Given the description of an element on the screen output the (x, y) to click on. 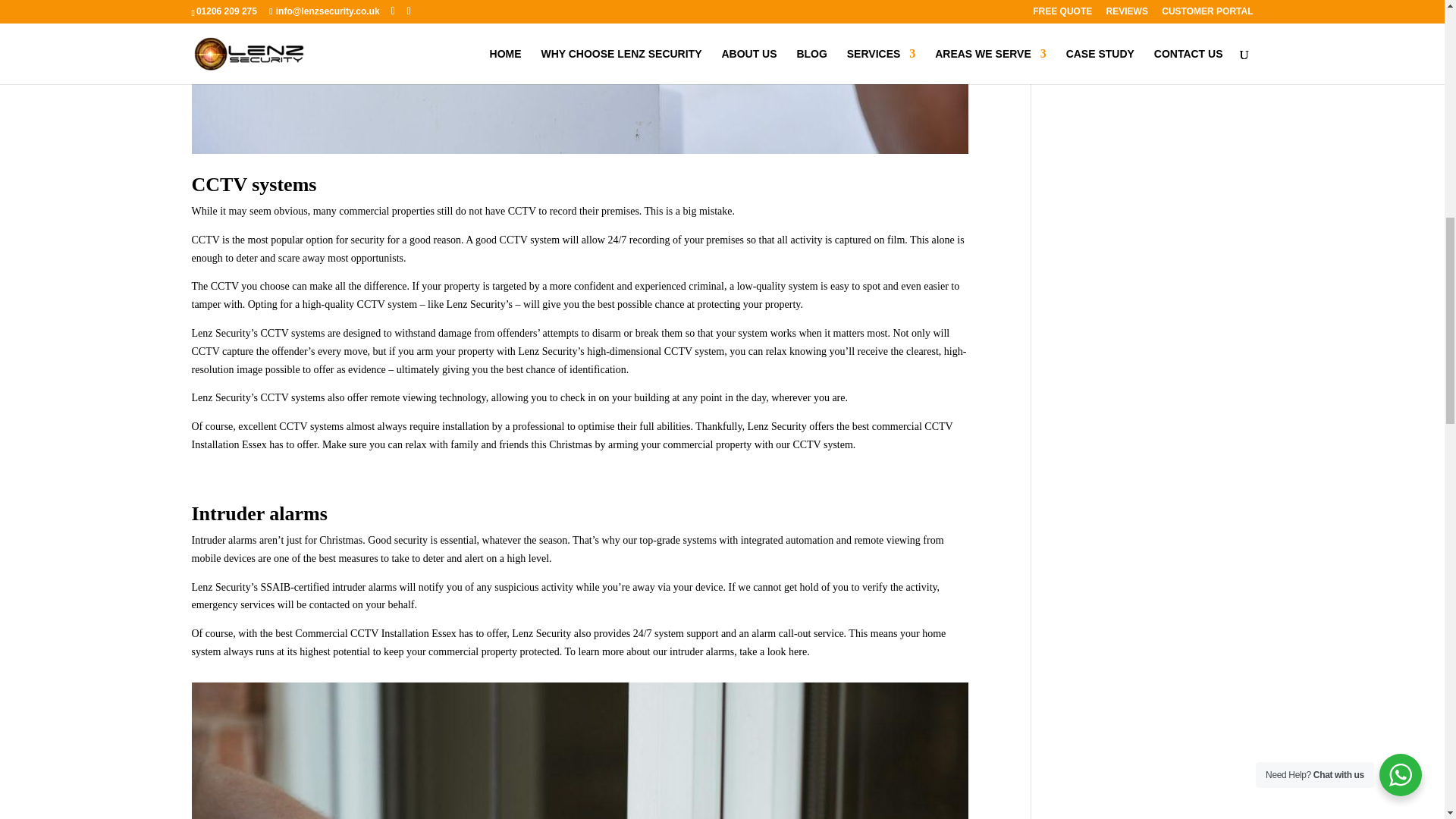
office-Security-1024x683-min (579, 750)
cctv-min (579, 76)
